Given the description of an element on the screen output the (x, y) to click on. 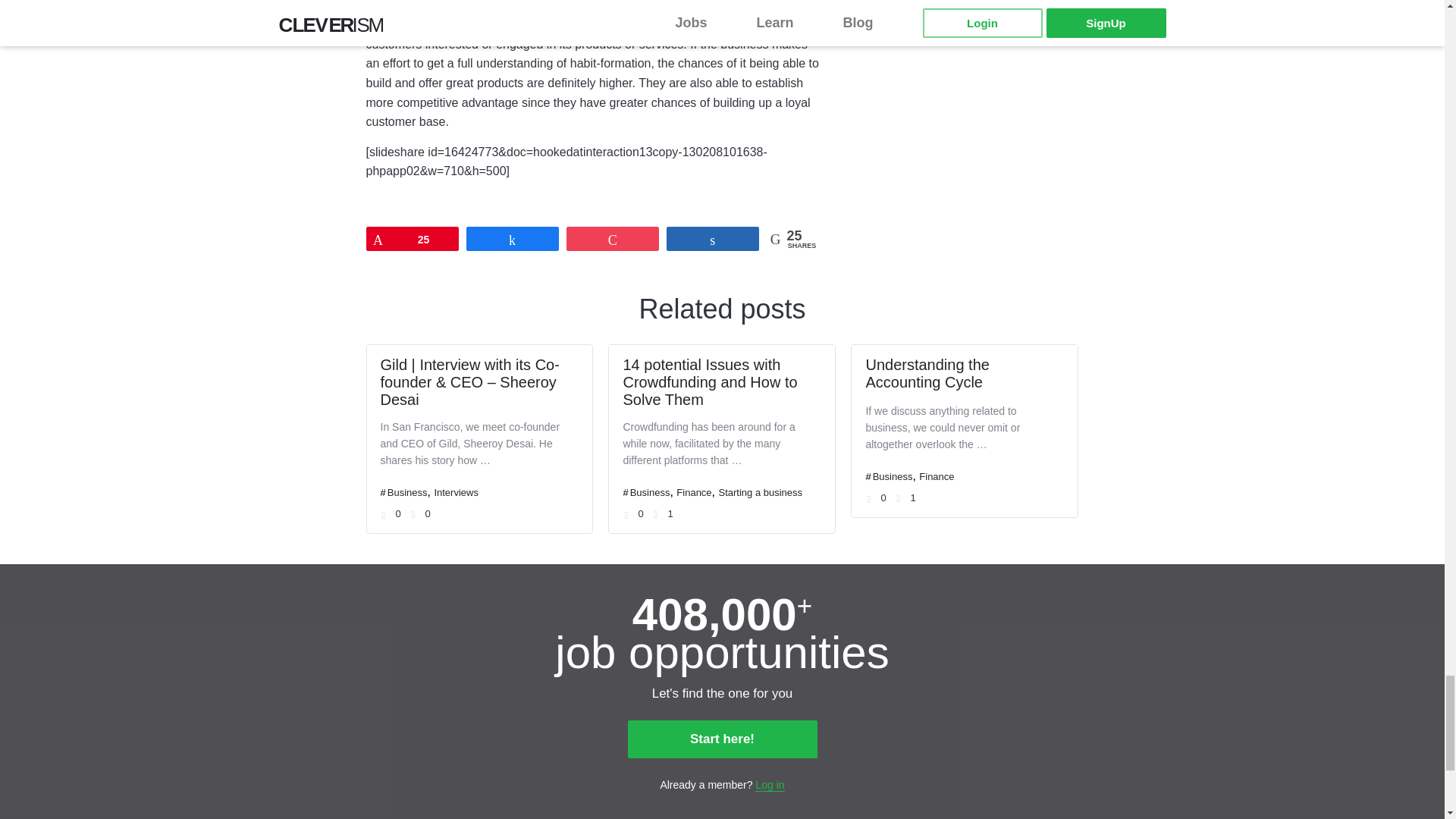
Business (407, 491)
Finance (935, 476)
Log in (769, 784)
Start here! (721, 739)
25 (412, 238)
Interviews (456, 491)
14 potential Issues with Crowdfunding and How to Solve Them (709, 381)
Finance (694, 491)
Understanding the Accounting Cycle (926, 373)
Business (649, 491)
